Given the description of an element on the screen output the (x, y) to click on. 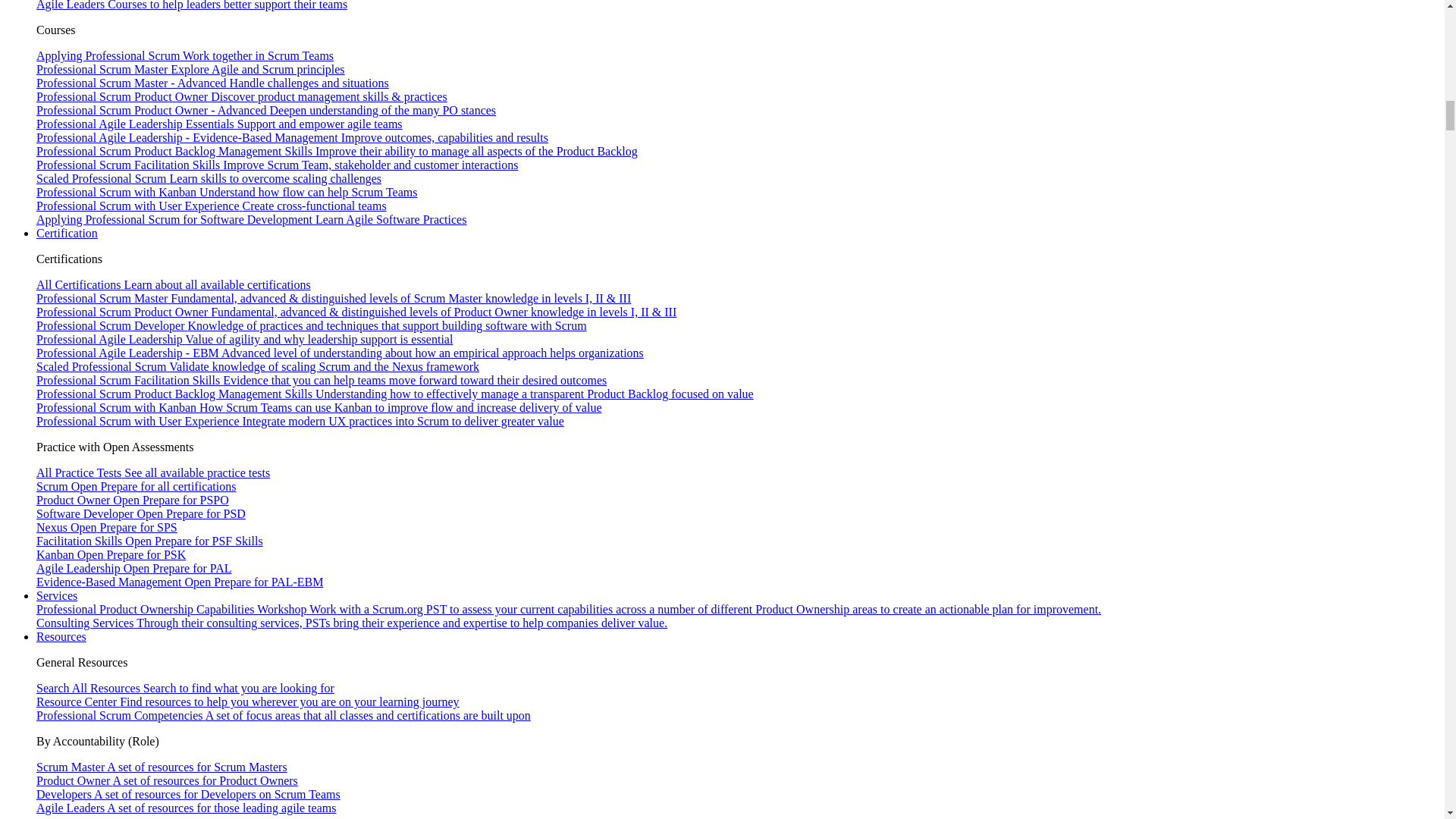
Professional Scrum Master Explore Agile and Scrum principles (190, 69)
Applying Professional Scrum Work together in Scrum Teams (184, 55)
